Given the description of an element on the screen output the (x, y) to click on. 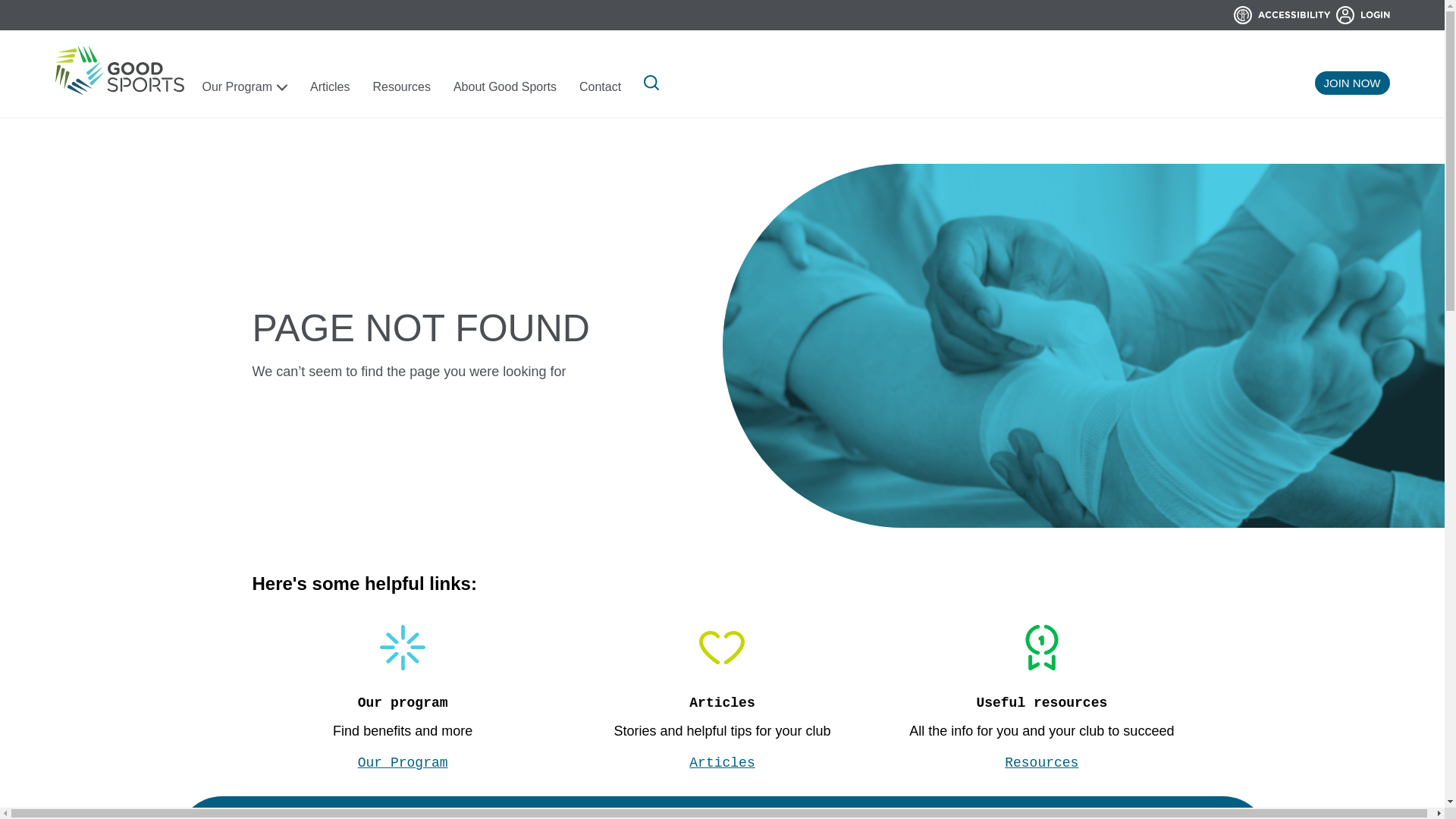
Resources Element type: text (400, 87)
About Good Sports Element type: text (504, 87)
Our Program Element type: text (402, 763)
Articles Element type: text (329, 87)
Our Program Element type: text (243, 87)
Resources Element type: text (1041, 763)
Contact Element type: text (600, 87)
Articles Element type: text (721, 763)
LOGIN Element type: text (1363, 15)
JOIN NOW Element type: text (1352, 82)
ACCESSIBILITY Element type: text (1284, 15)
